Given the description of an element on the screen output the (x, y) to click on. 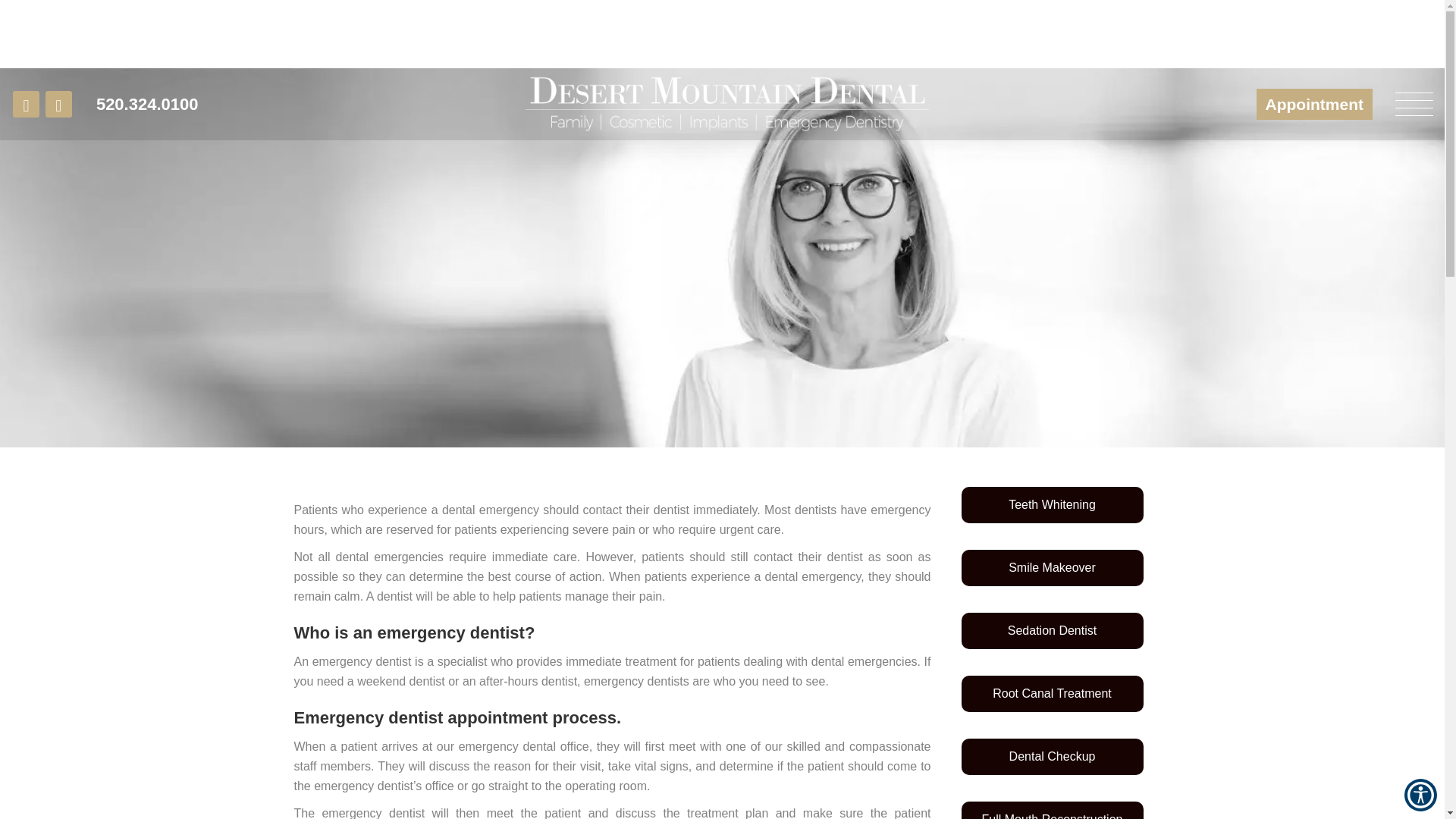
Desert Mountain Dental (726, 104)
Appointment (1313, 44)
520.324.0100 (147, 28)
